Given the description of an element on the screen output the (x, y) to click on. 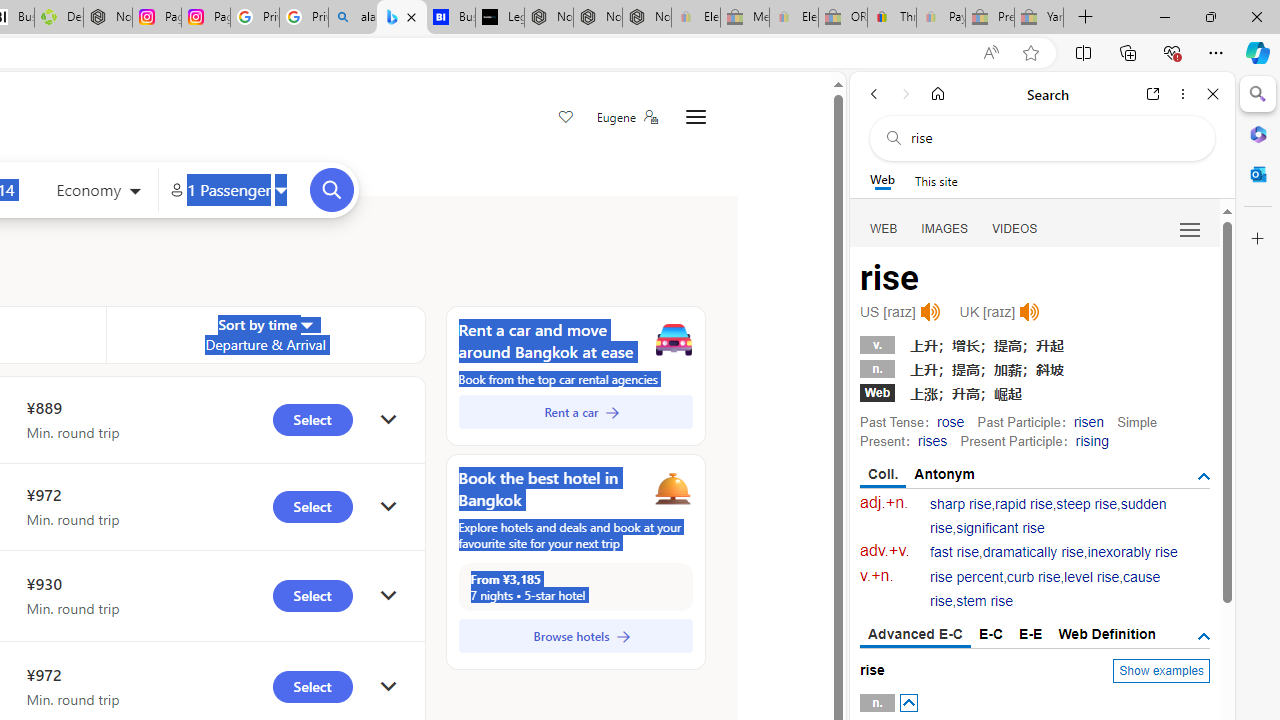
AutomationID: posbtn_0 (908, 703)
Antonym (945, 473)
stem rise (984, 601)
Save (565, 118)
fast rise (955, 552)
Search Filter, WEB (884, 228)
Microsoft Bing Travel - Flights from Hong Kong to Bangkok (401, 17)
significant rise (1000, 528)
